Given the description of an element on the screen output the (x, y) to click on. 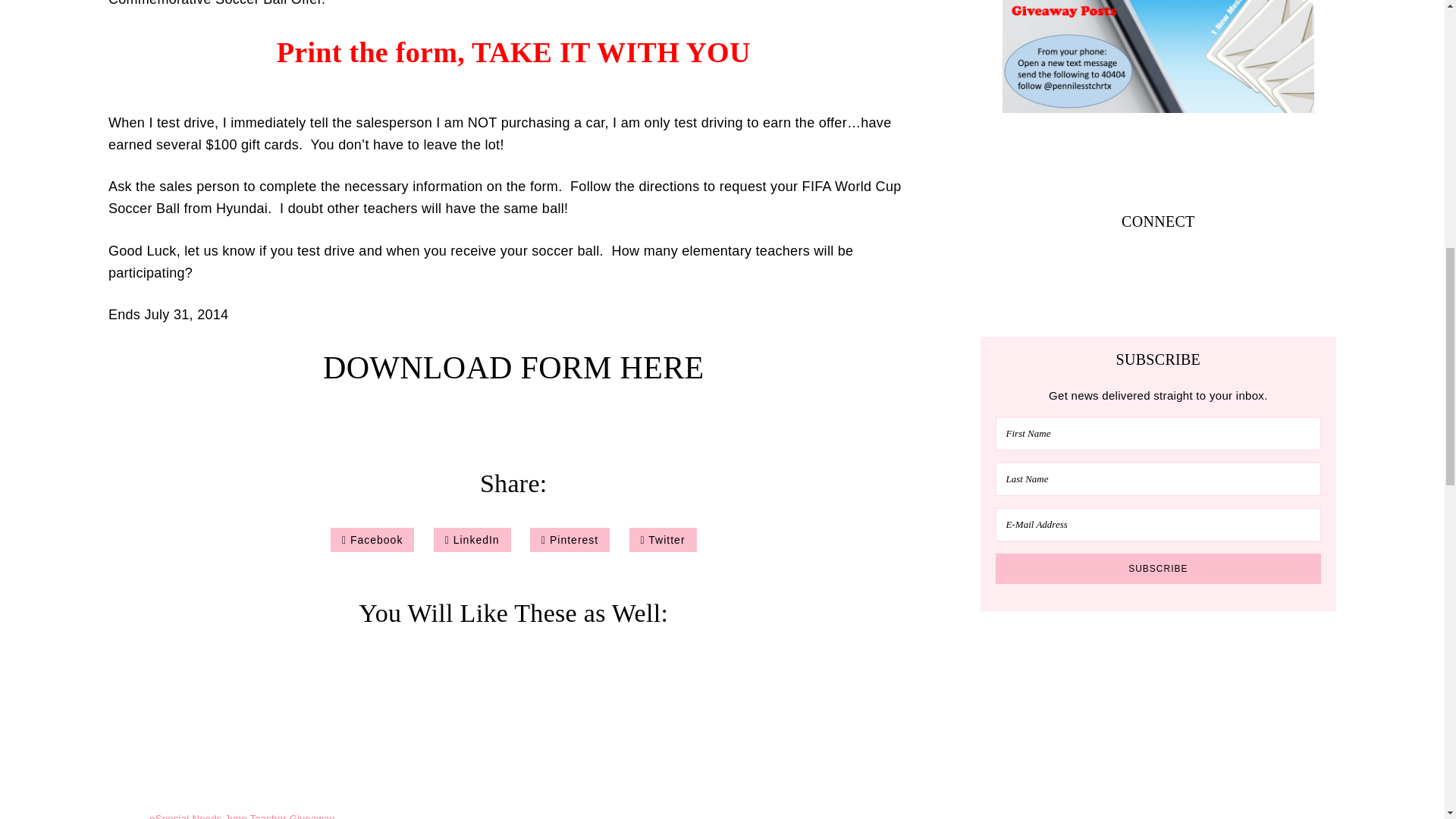
eSpecial Needs June Teacher Giveaway (242, 735)
Pinterest (569, 539)
Subscribe (1158, 568)
Permanent Link toeSpecial Needs June Teacher Giveaway (242, 735)
Subscribe (1158, 568)
Twitter (662, 539)
BenQ Projector Giveaway (776, 735)
Permanent Link toBenQ Projector Giveaway (776, 735)
Facebook (372, 539)
LinkedIn (472, 539)
